Given the description of an element on the screen output the (x, y) to click on. 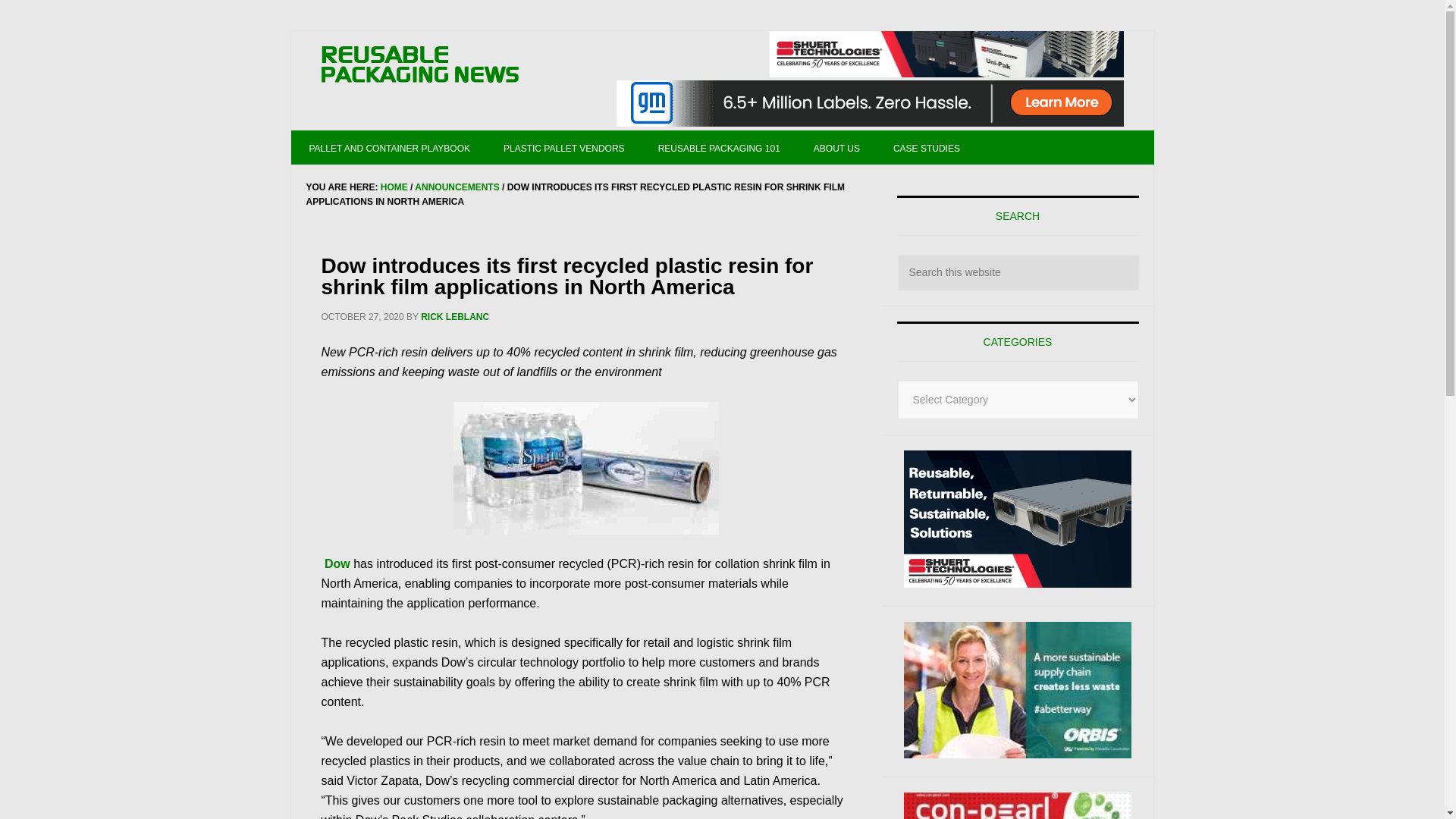
Dow (337, 563)
PALLET AND CONTAINER PLAYBOOK (390, 147)
ABOUT US (835, 147)
CASE STUDIES (926, 147)
CONPearl (1017, 805)
HOME (393, 186)
ANNOUNCEMENTS (456, 186)
REUSABLE PACKAGING 101 (718, 147)
Shuert (1017, 519)
